Given the description of an element on the screen output the (x, y) to click on. 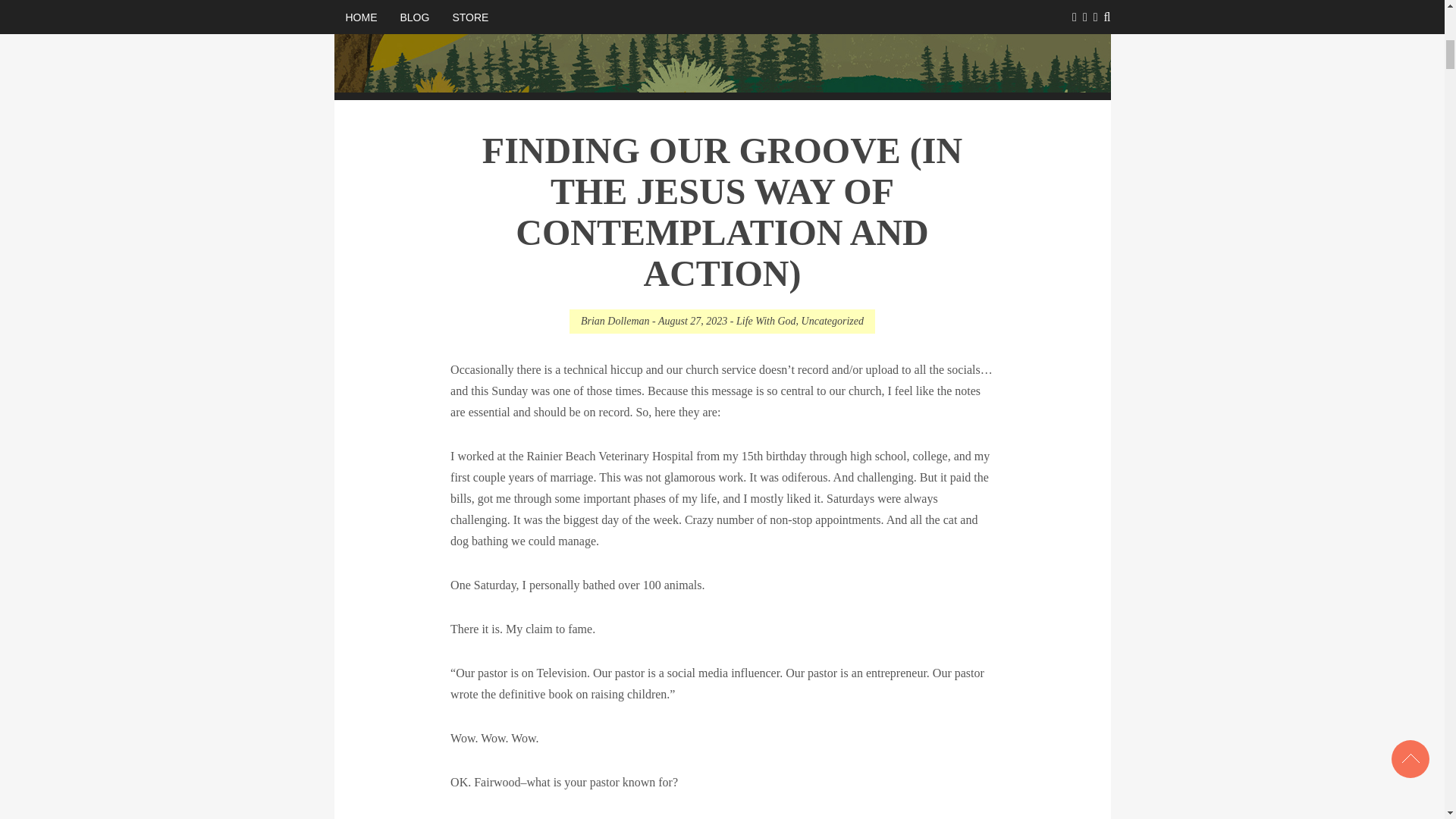
View all posts in Life With God (766, 320)
Uncategorized (832, 320)
Brian Dolleman (614, 320)
Life With God (766, 320)
Posts by Brian Dolleman (614, 320)
View all posts in Uncategorized (832, 320)
